Given the description of an element on the screen output the (x, y) to click on. 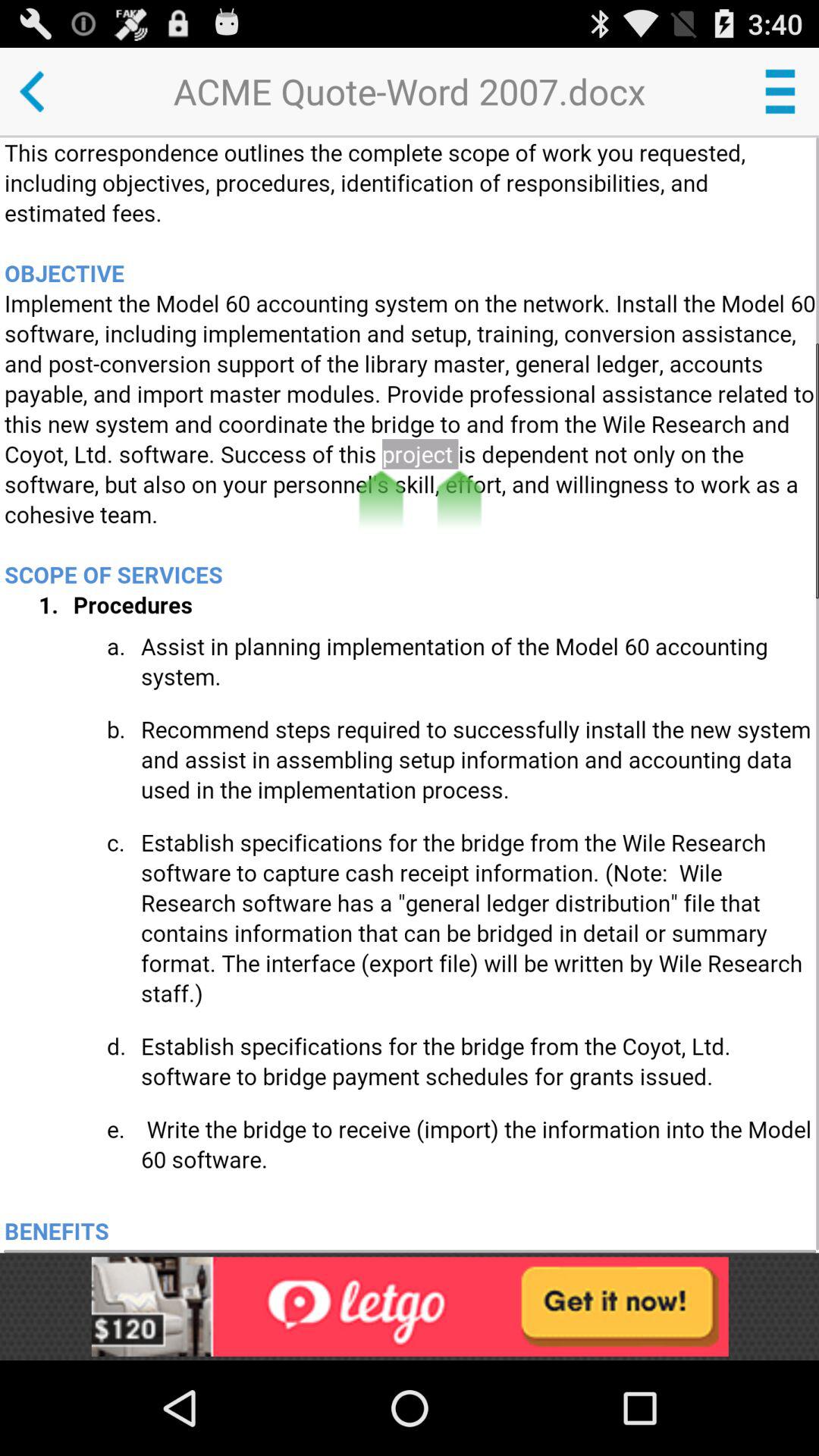
open navigation menu (779, 91)
